Given the description of an element on the screen output the (x, y) to click on. 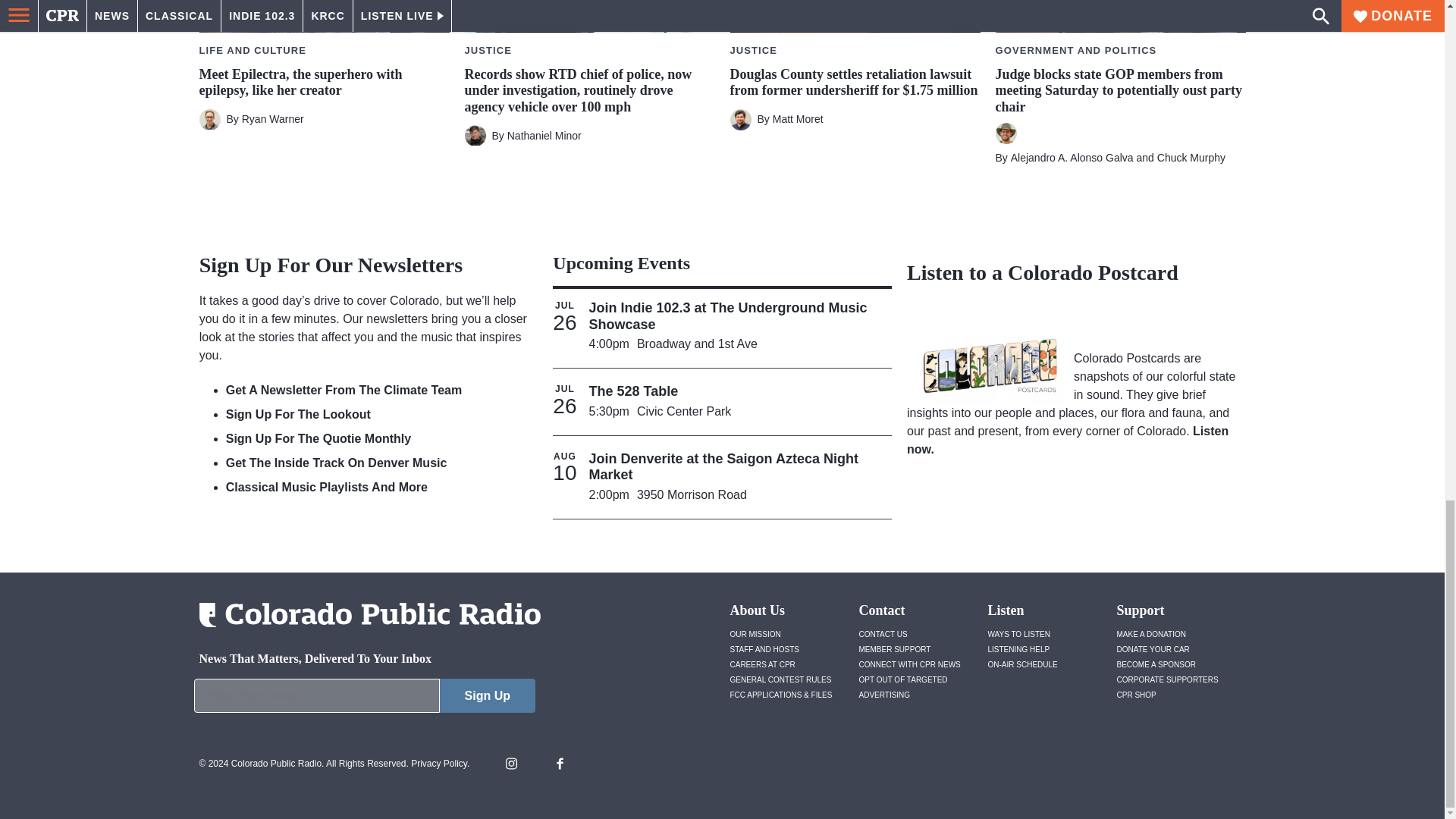
footer (364, 699)
